Given the description of an element on the screen output the (x, y) to click on. 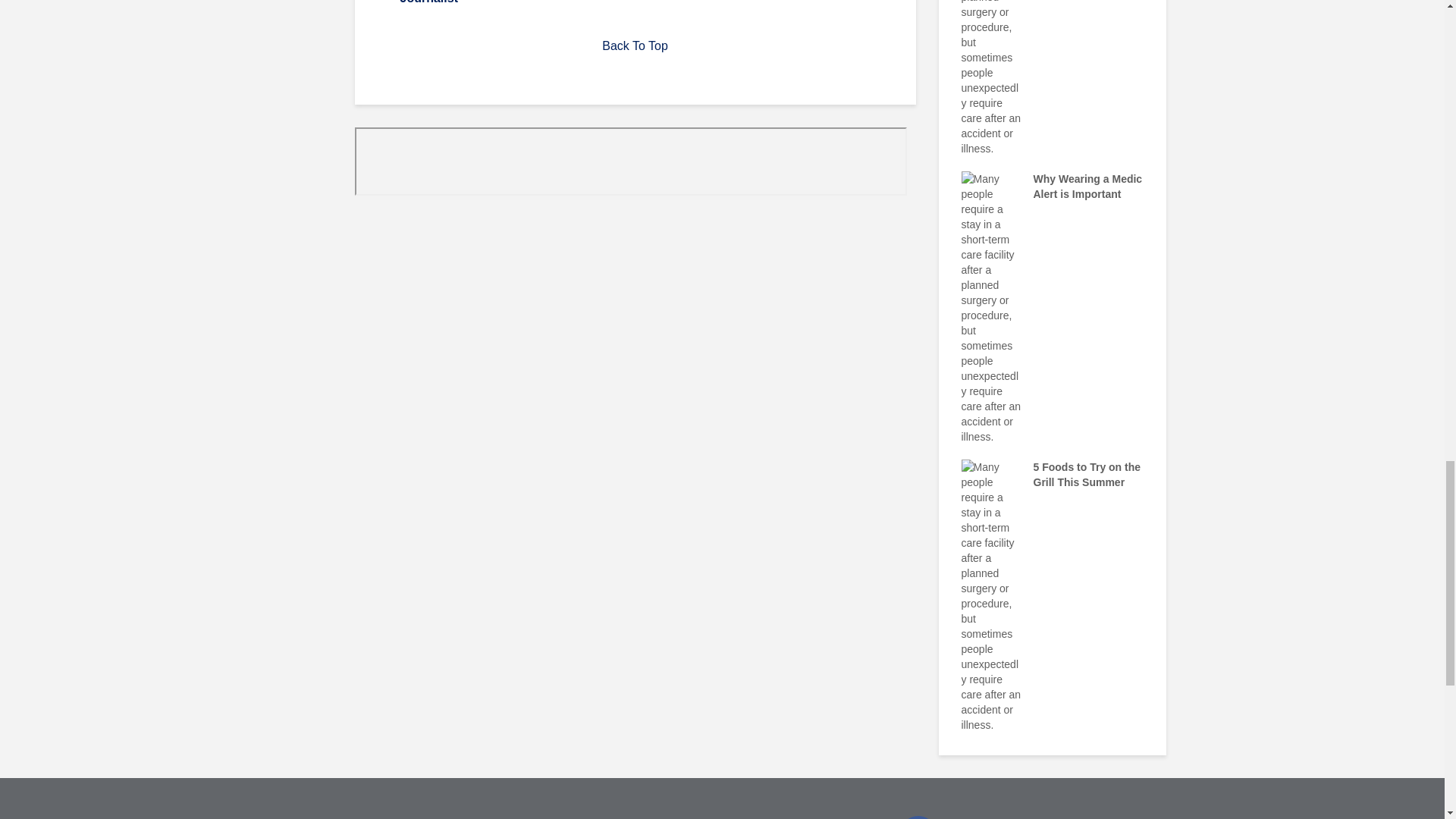
Why Wearing a Medic Alert is Important (991, 306)
How to Make Sure You Have Enough Life Insurance (991, 19)
5 Foods to Try on the Grill This Summer (991, 594)
Facebook (917, 817)
